Given the description of an element on the screen output the (x, y) to click on. 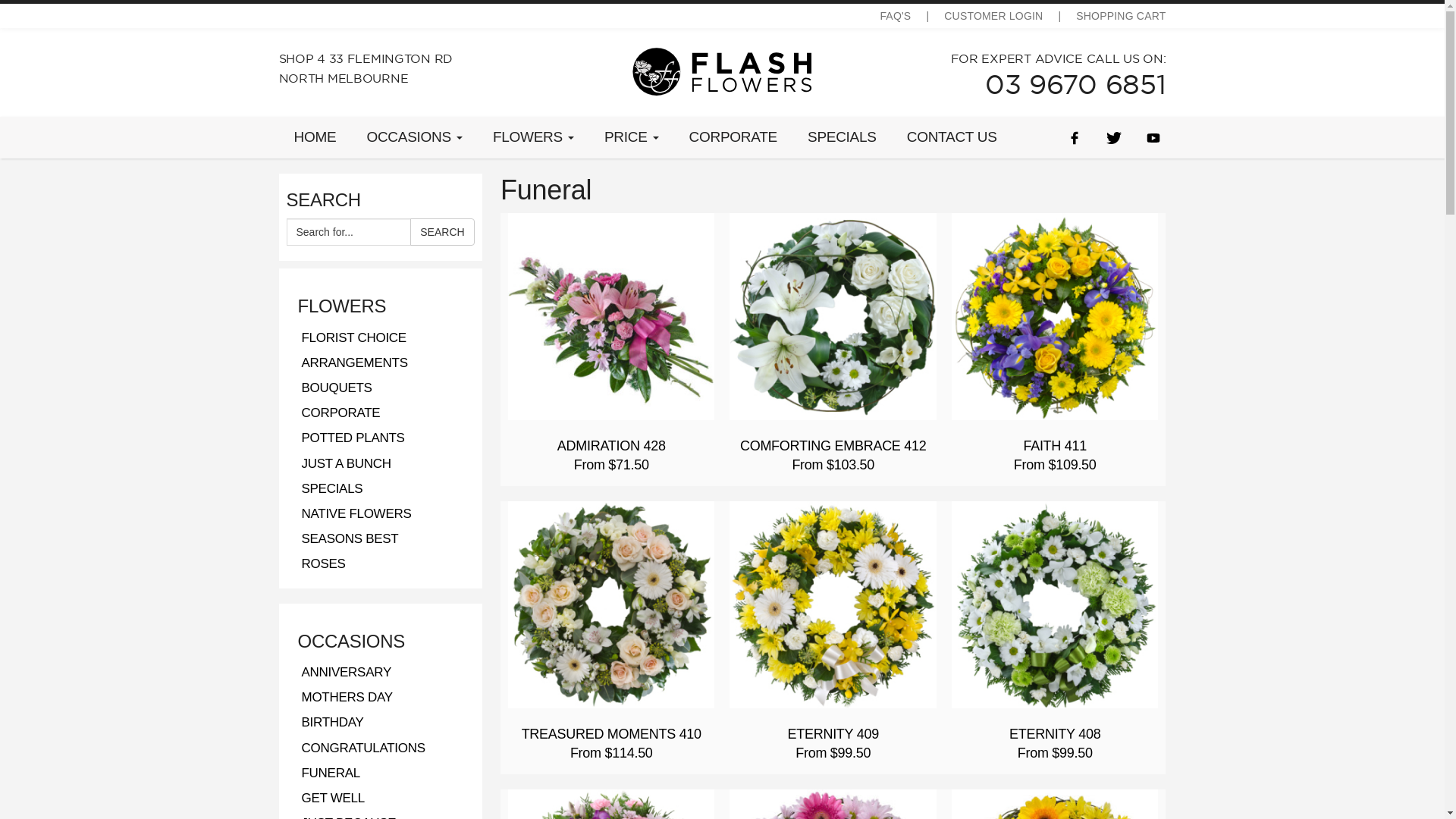
SEASONS BEST Element type: text (349, 538)
FLOWERS Element type: text (533, 136)
CORPORATE Element type: text (340, 412)
SPECIALS Element type: text (841, 136)
ANNIVERSARY Element type: text (345, 671)
CONGRATULATIONS Element type: text (362, 747)
NATIVE FLOWERS Element type: text (355, 513)
ROSES Element type: text (322, 563)
CORPORATE Element type: text (733, 136)
CUSTOMER LOGIN Element type: text (993, 15)
HOME Element type: text (315, 136)
GET WELL Element type: text (332, 797)
SEARCH Element type: text (441, 231)
BIRTHDAY Element type: text (332, 722)
SPECIALS Element type: text (331, 488)
CONTACT US Element type: text (951, 136)
PRICE Element type: text (631, 136)
JUST A BUNCH Element type: text (345, 463)
OCCASIONS Element type: text (414, 136)
SHOPPING CART Element type: text (1120, 15)
MOTHERS DAY Element type: text (346, 697)
BOUQUETS Element type: text (336, 387)
TWITTER [#154] CREATED WITH SKETCH. Element type: text (1113, 136)
FUNERAL Element type: text (330, 772)
FAQ'S Element type: text (894, 15)
POTTED PLANTS Element type: text (352, 437)
ARRANGEMENTS Element type: text (354, 362)
FLORIST CHOICE Element type: text (353, 337)
